Given the description of an element on the screen output the (x, y) to click on. 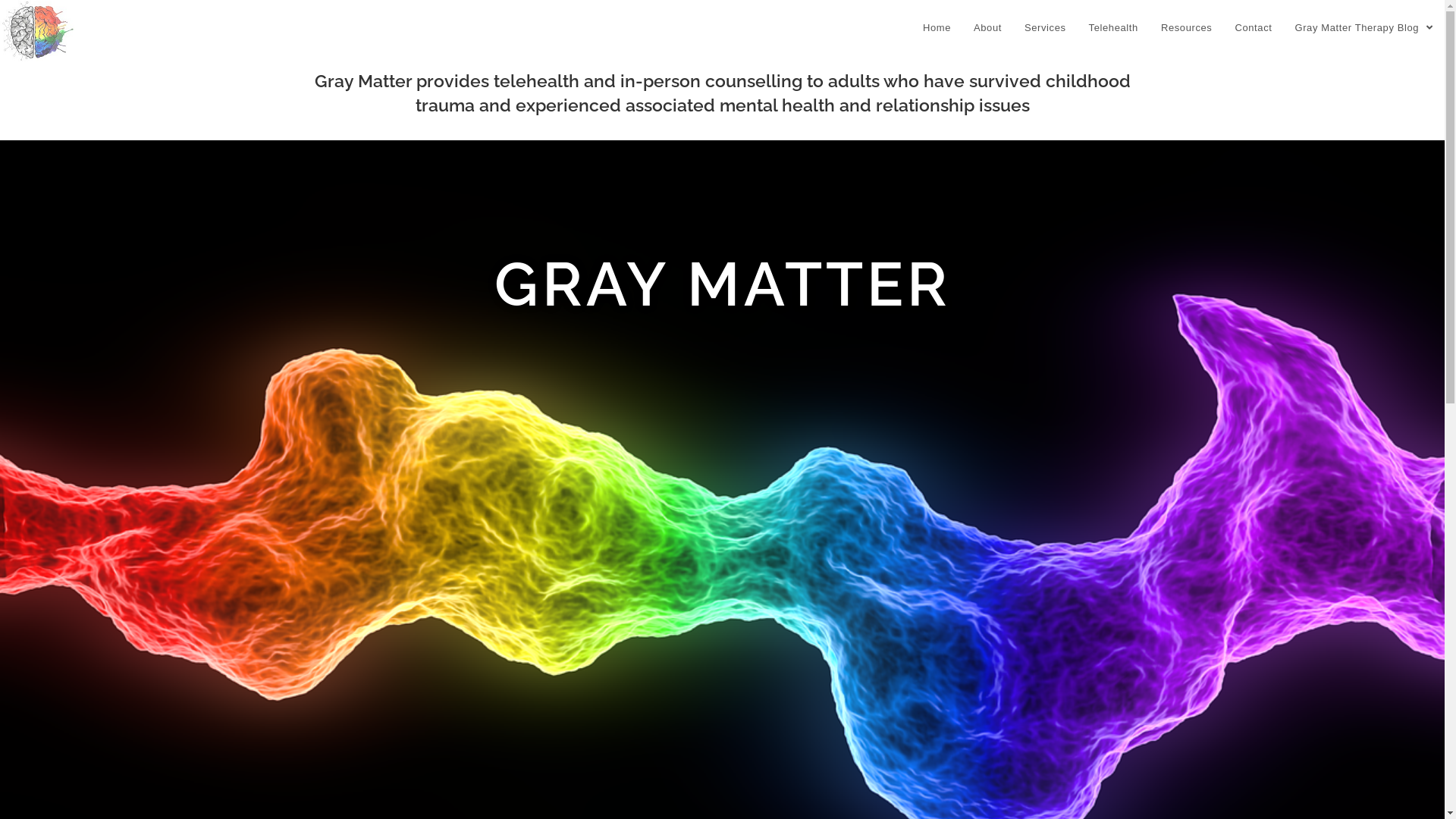
Contact Element type: text (1253, 28)
Services Element type: text (1045, 28)
Telehealth Element type: text (1113, 28)
Resources Element type: text (1186, 28)
About Element type: text (987, 28)
Home Element type: text (936, 28)
Gray Matter Therapy Blog Element type: text (1363, 28)
